Given the description of an element on the screen output the (x, y) to click on. 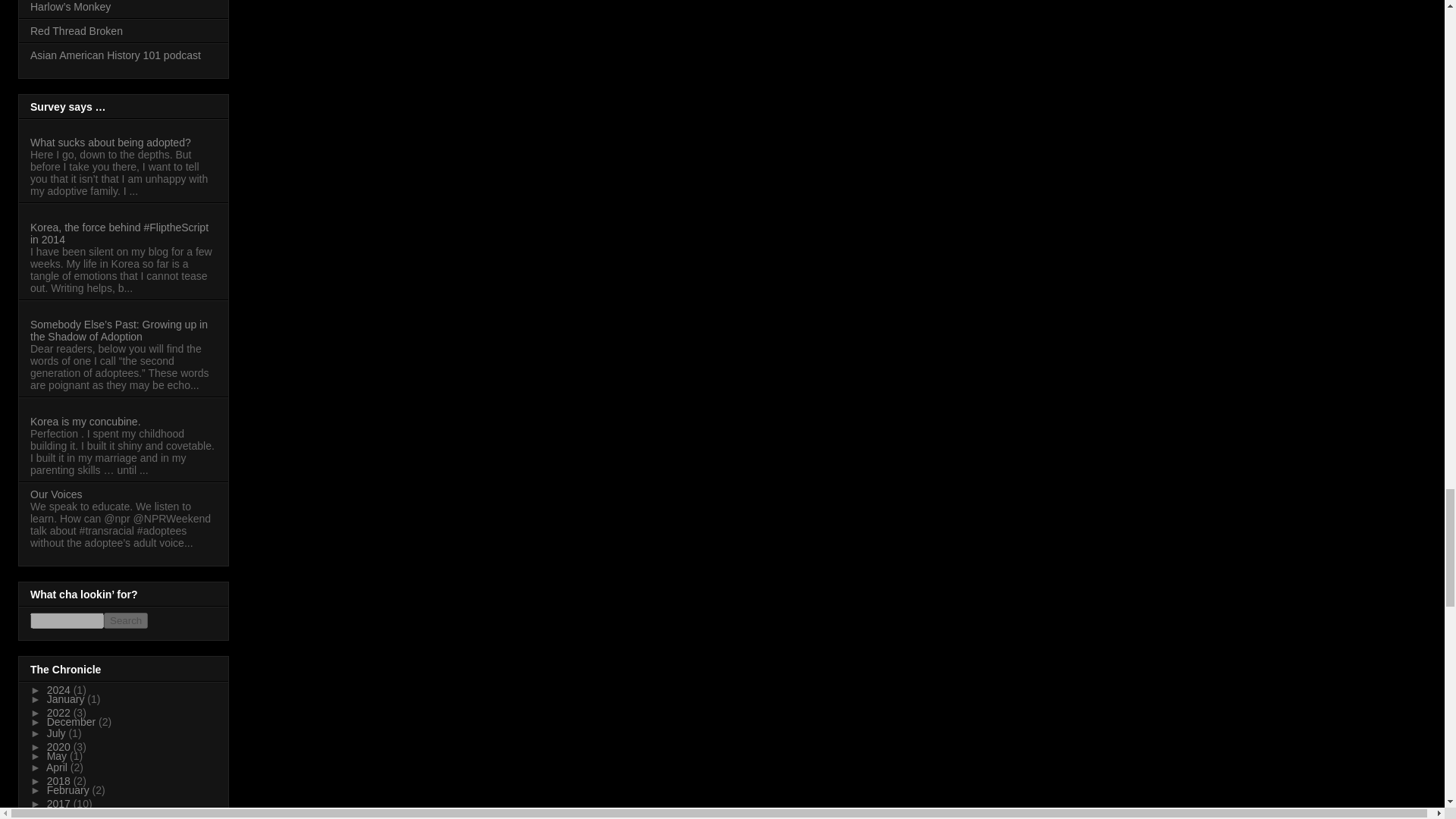
Search (125, 620)
Search (125, 620)
